Given the description of an element on the screen output the (x, y) to click on. 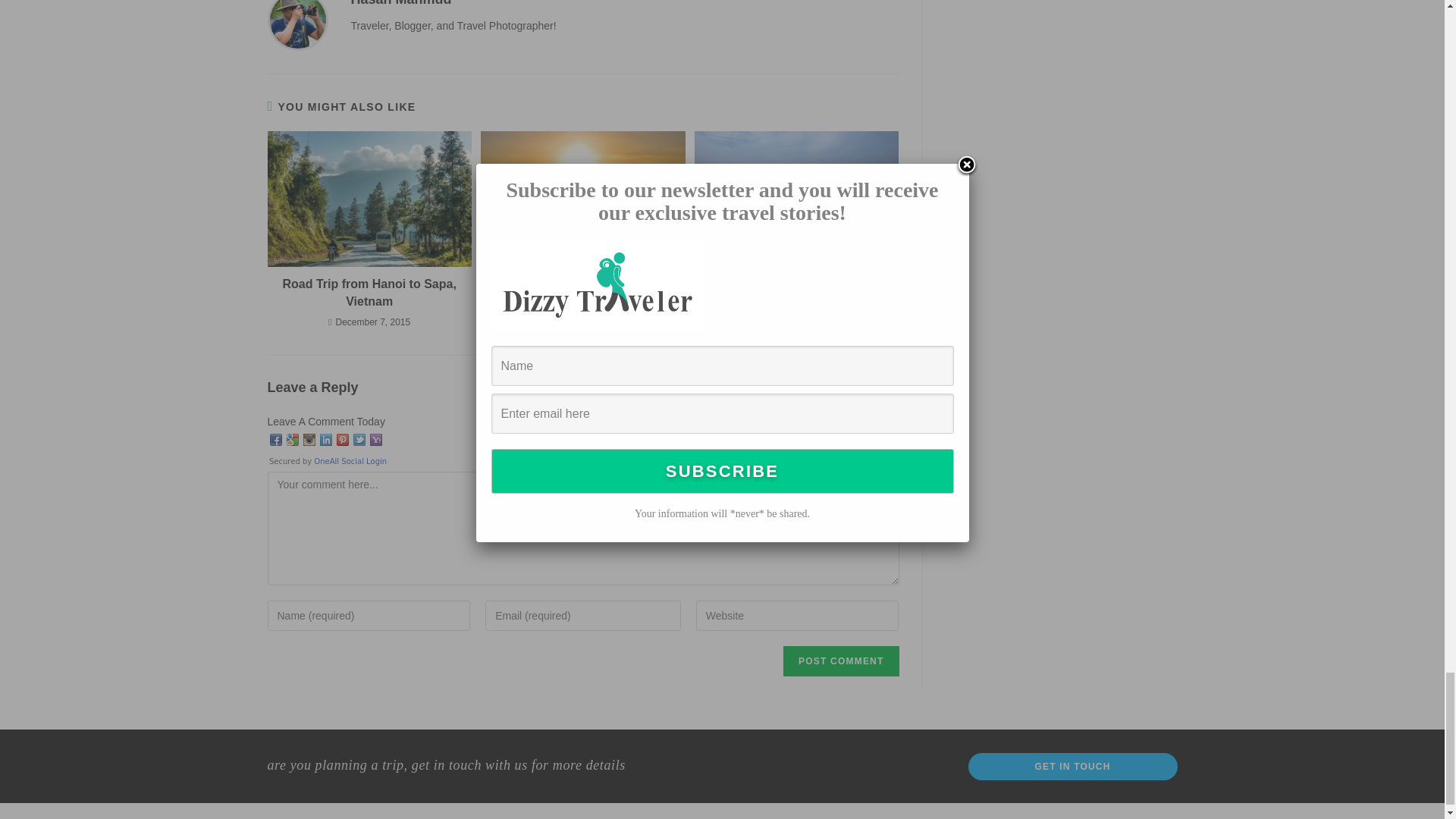
Post Comment (840, 661)
Visit author page (296, 19)
Visit author page (400, 3)
Login with Social Networks (582, 450)
